Given the description of an element on the screen output the (x, y) to click on. 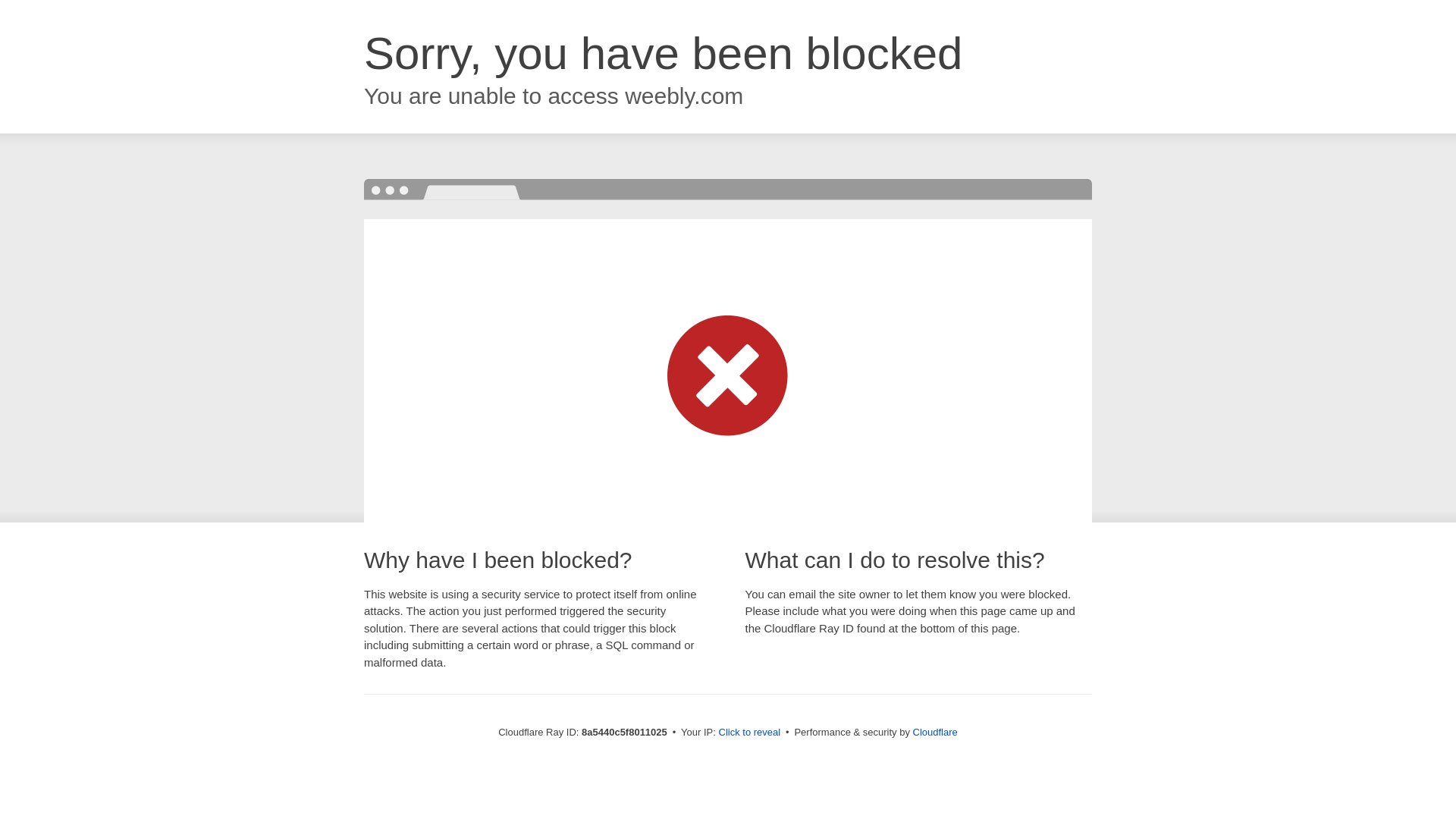
Click to reveal (749, 732)
Cloudflare (935, 731)
